Given the description of an element on the screen output the (x, y) to click on. 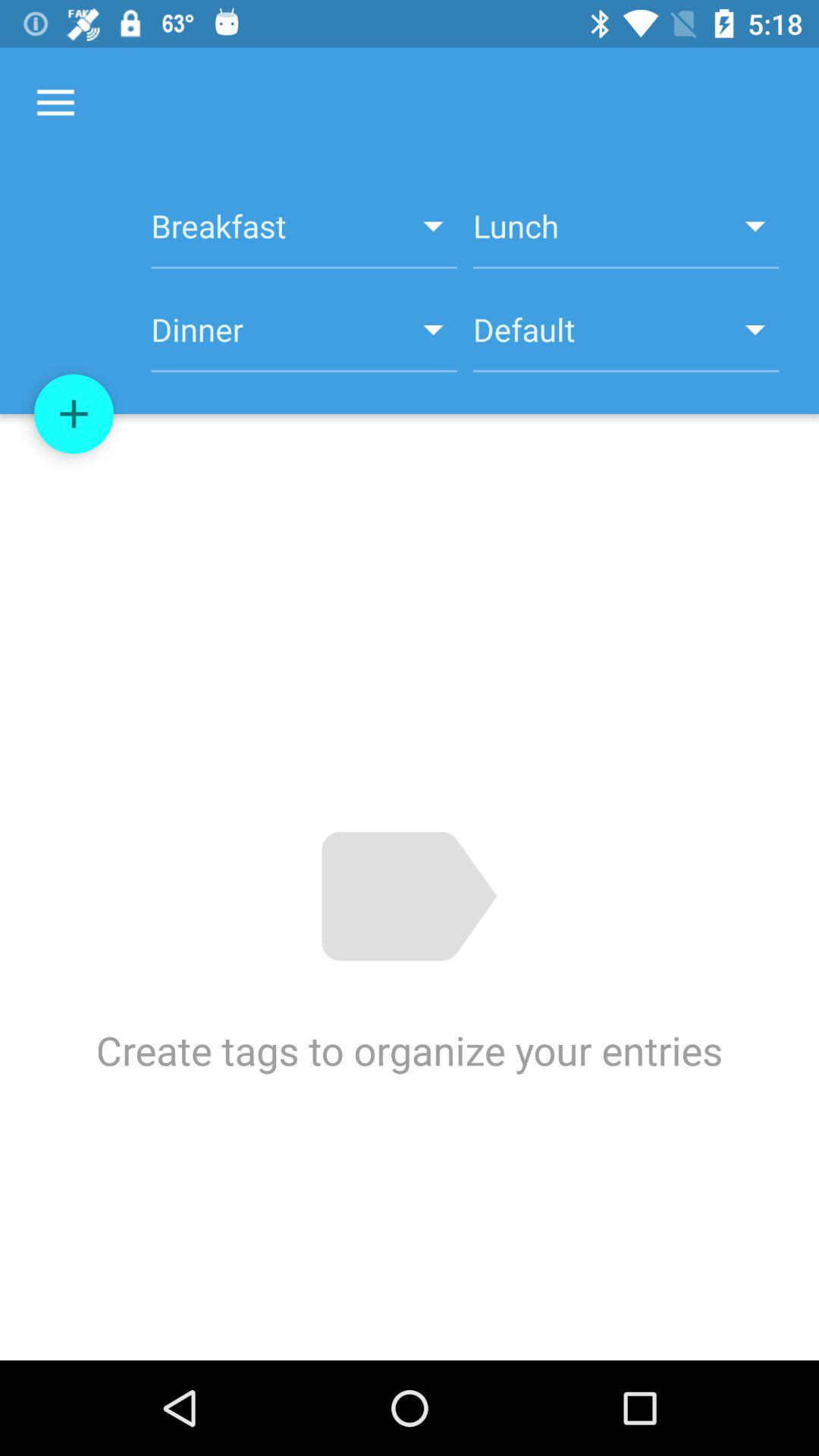
scroll to dinner icon (304, 338)
